Given the description of an element on the screen output the (x, y) to click on. 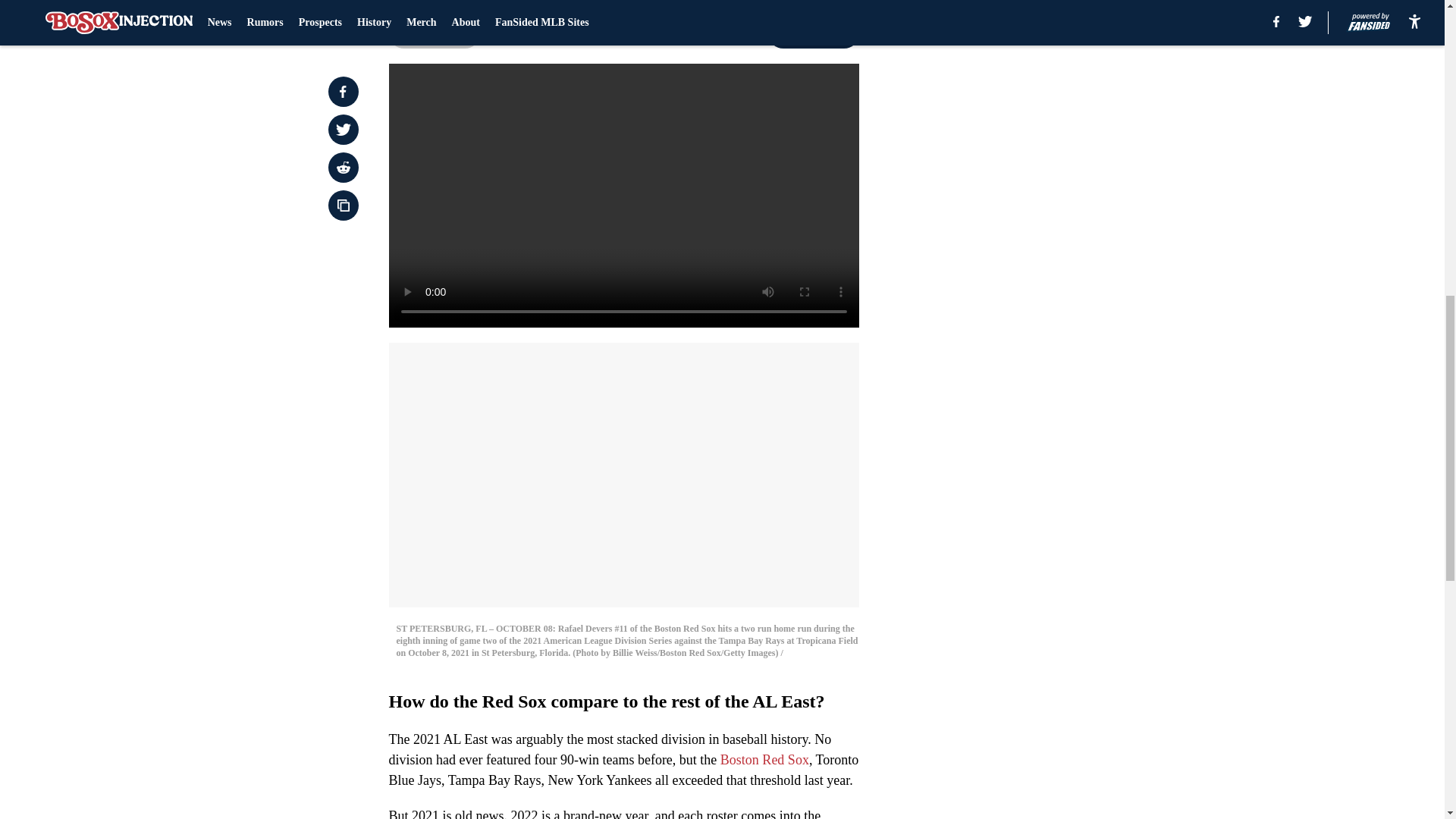
Prev (433, 33)
Boston Red Sox (764, 759)
Next (813, 33)
